Given the description of an element on the screen output the (x, y) to click on. 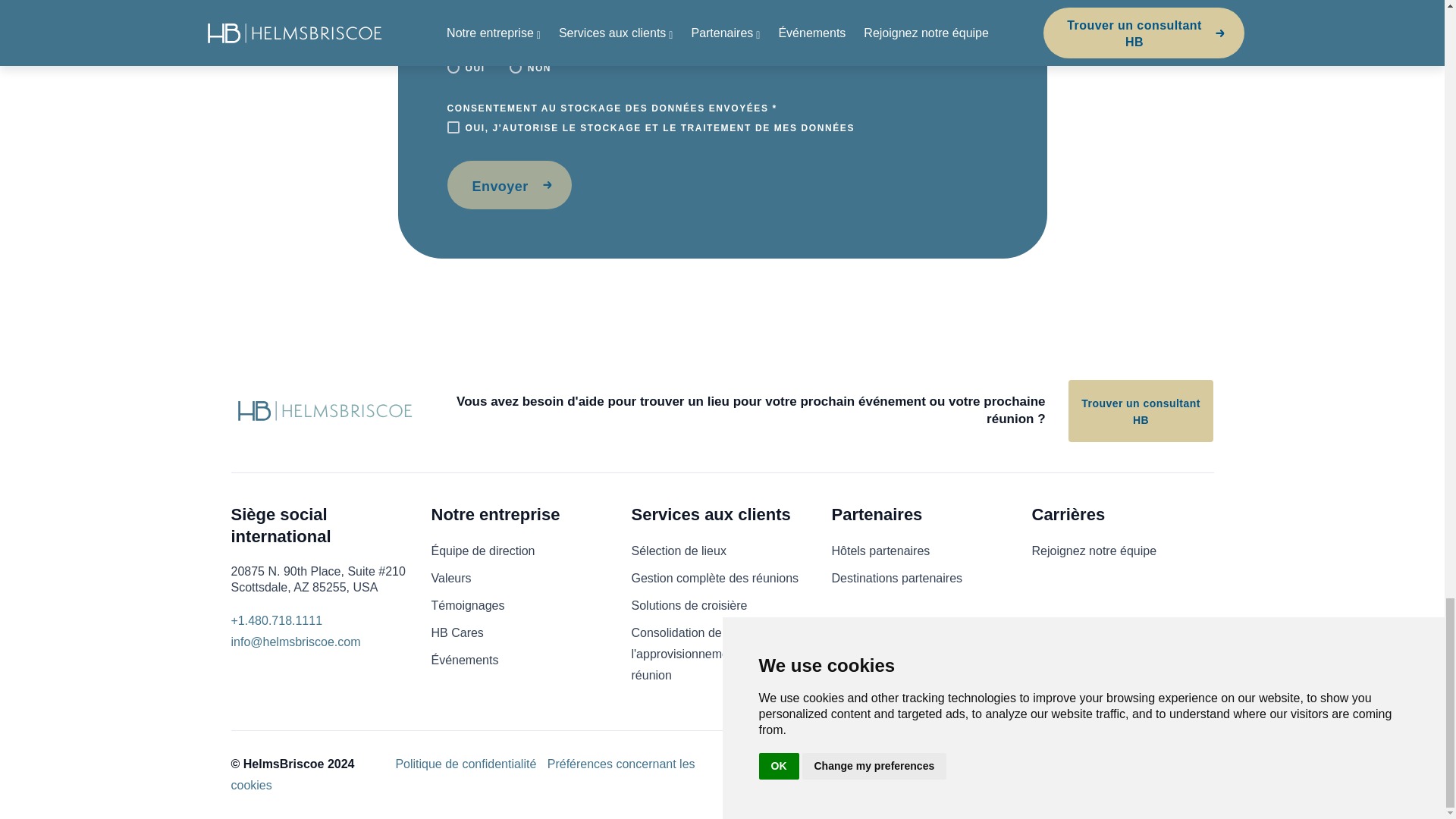
HB Cares (456, 632)
Envoyer (509, 184)
Destinations partenaires (896, 577)
Trouver un consultant HB (1141, 411)
Valeurs (450, 577)
Envoyer (509, 184)
